Given the description of an element on the screen output the (x, y) to click on. 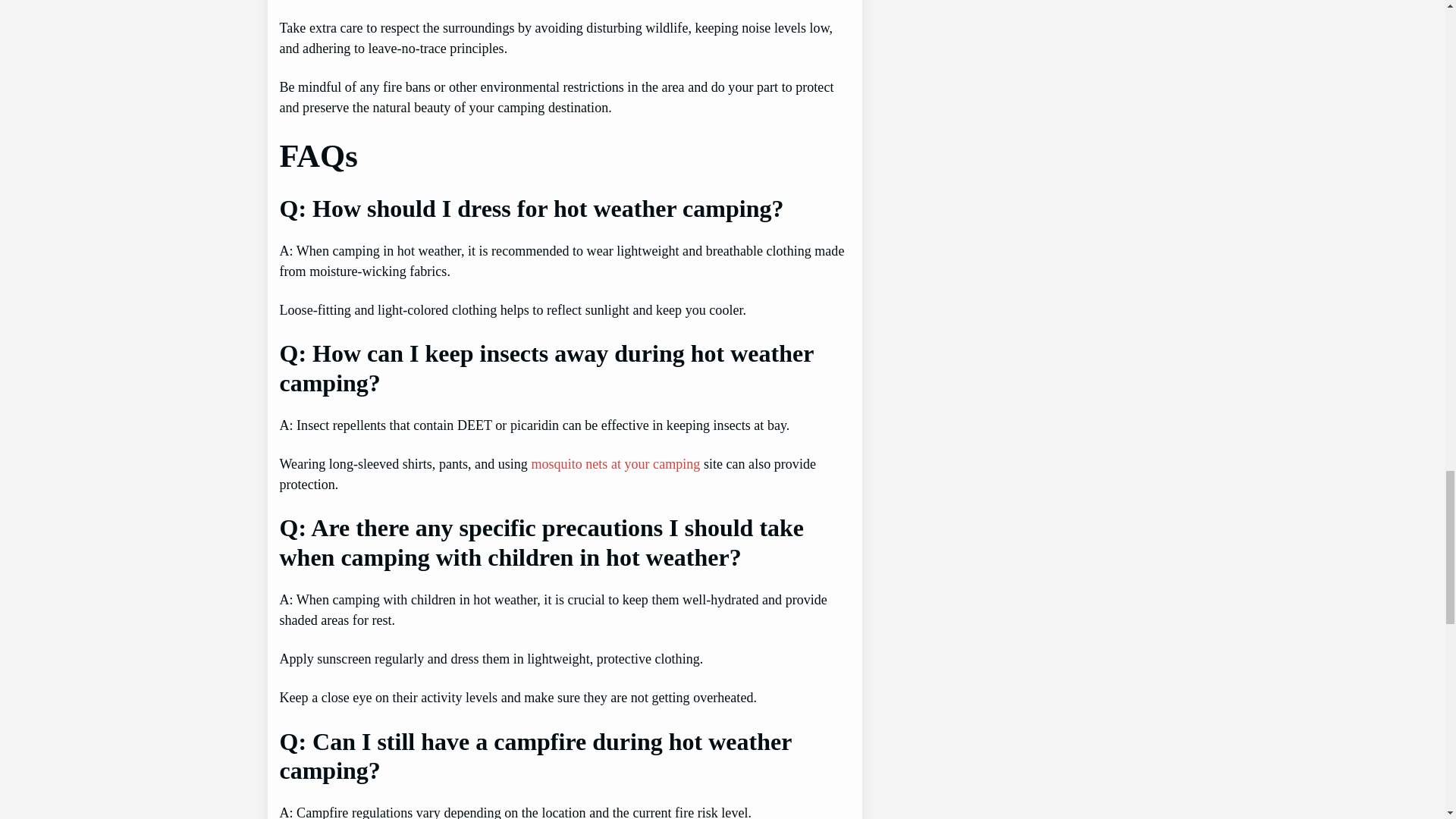
mosquito nets at your camping (615, 463)
